Given the description of an element on the screen output the (x, y) to click on. 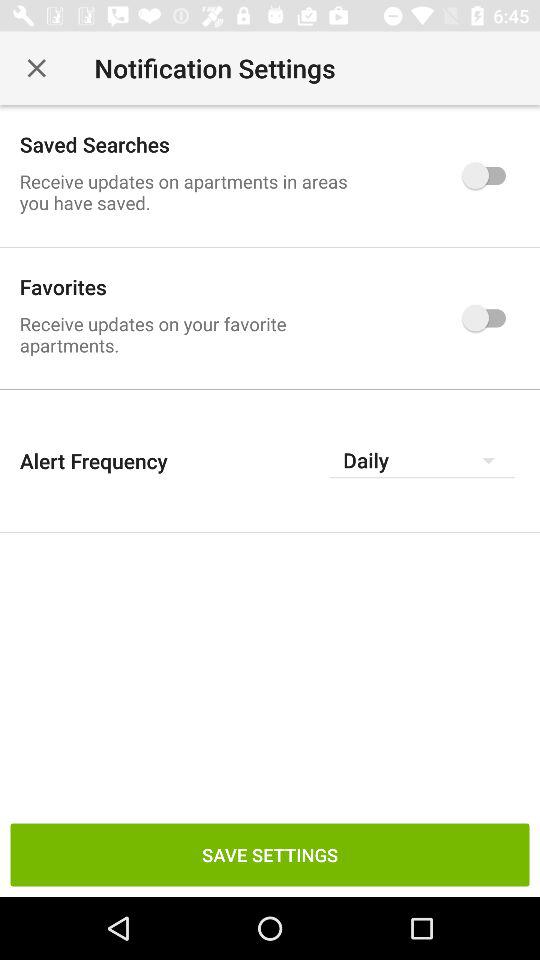
select icon above the saved searches item (36, 68)
